Given the description of an element on the screen output the (x, y) to click on. 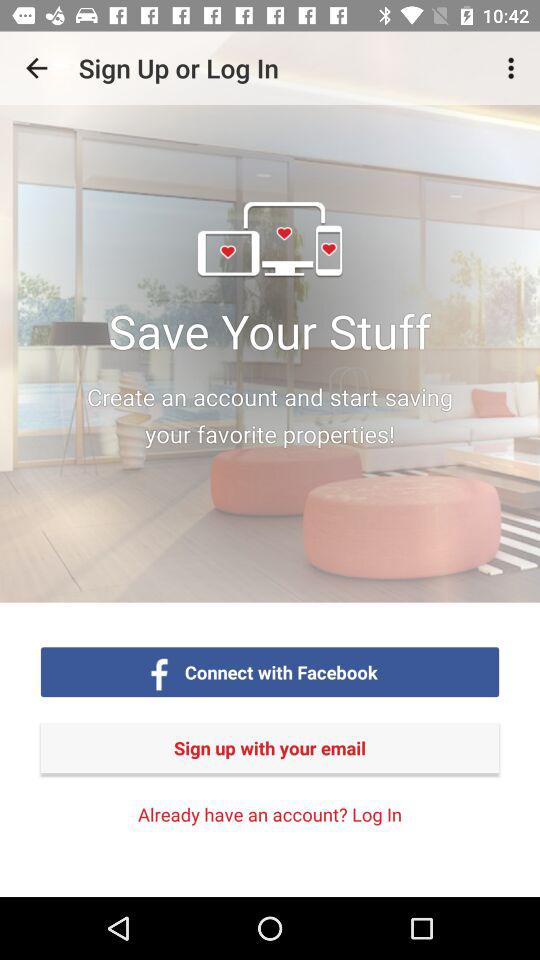
launch the connect with facebook (281, 672)
